Given the description of an element on the screen output the (x, y) to click on. 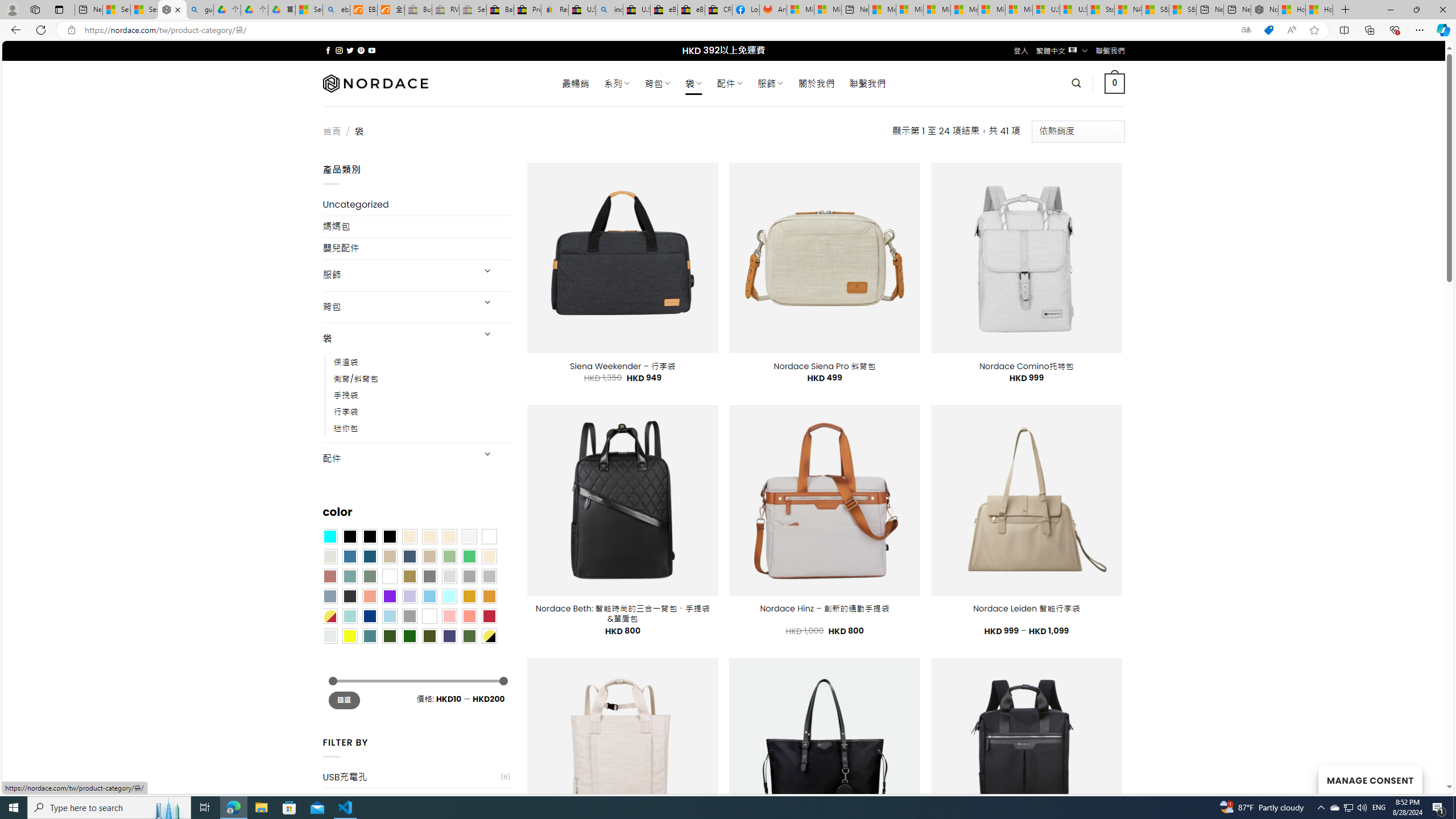
Address and search bar (658, 29)
Follow on Twitter (349, 50)
Follow on Pinterest (360, 50)
guge yunpan - Search (200, 9)
How to Use a Monitor With Your Closed Laptop (1319, 9)
